Given the description of an element on the screen output the (x, y) to click on. 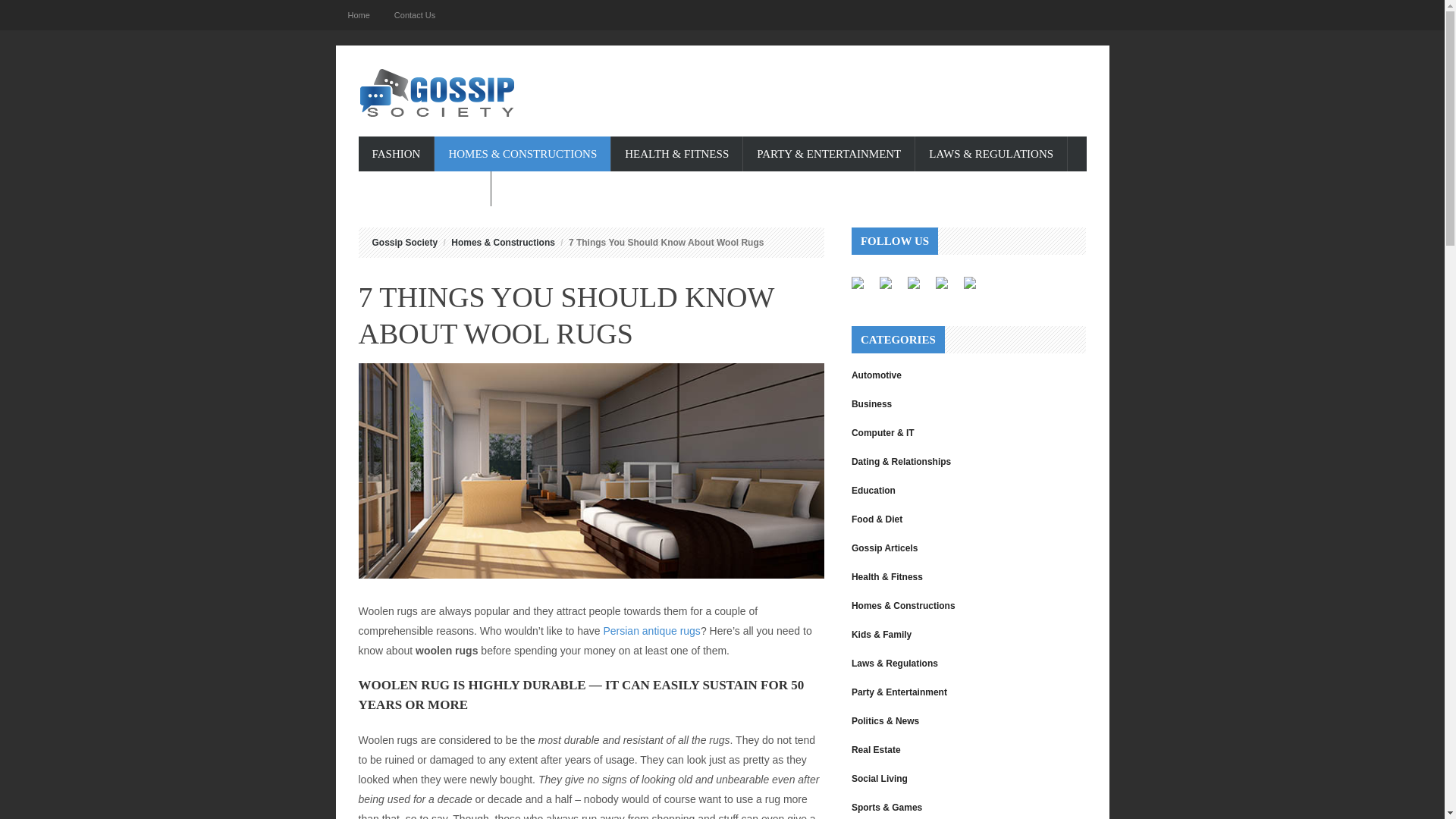
Find us on Linkedin (919, 288)
Persian antique rugs (651, 630)
Find us on YouTube (975, 288)
Subscribe to our RSS Feed (947, 288)
Follow us on Twitter (891, 288)
MORE CATEGORIES (424, 188)
FASHION (395, 153)
Subscribe to our RSS Feed (941, 282)
Follow us on Facebook (857, 282)
Follow us on Facebook (863, 288)
Gossip Society (404, 242)
Find us on Linkedin (913, 282)
Follow us on Twitter (885, 282)
